Given the description of an element on the screen output the (x, y) to click on. 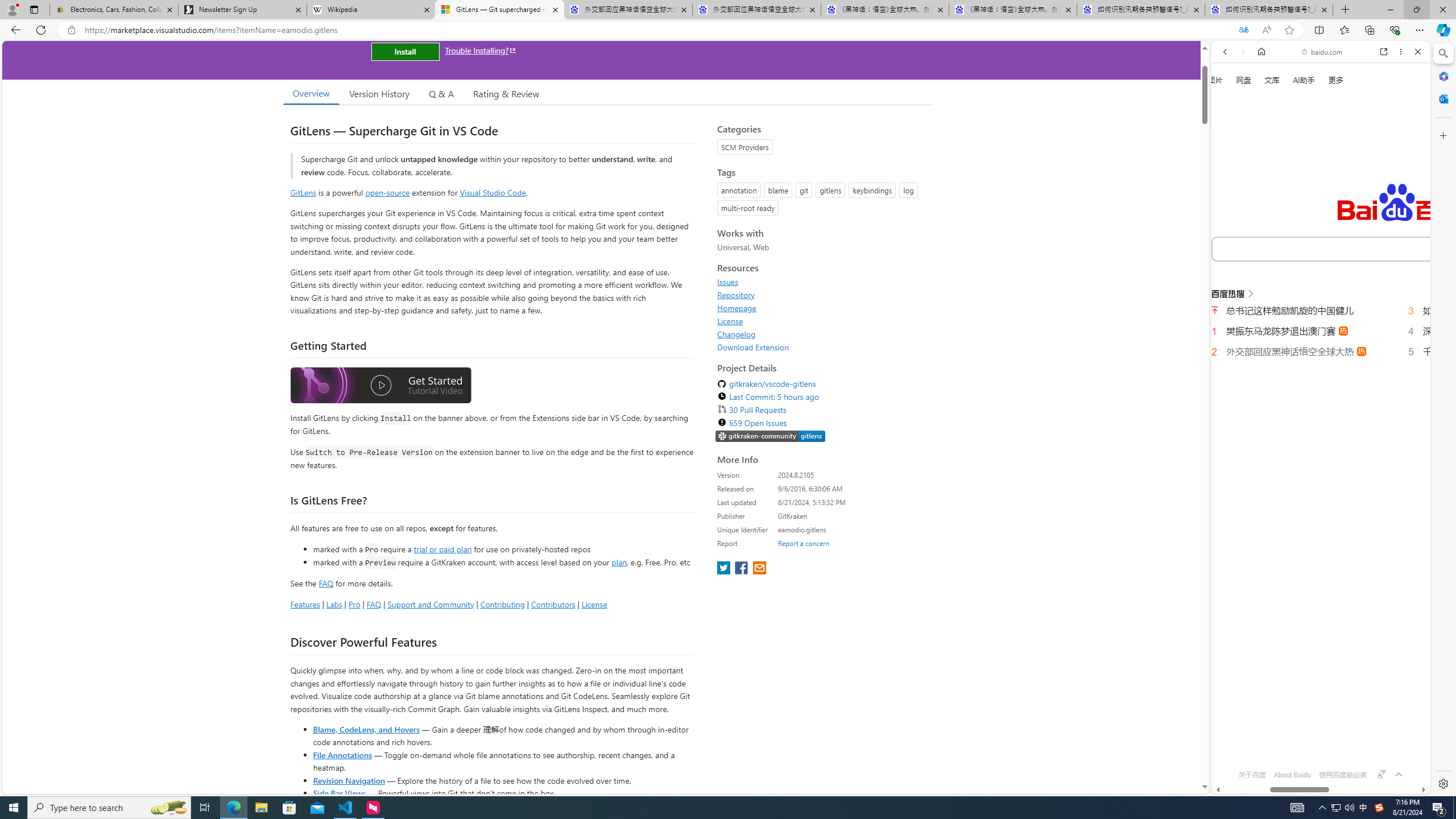
Contributors (552, 603)
WEB   (1230, 192)
baidu.com (1323, 51)
Changelog (820, 333)
Search Filter, WEB (1230, 192)
FAQ (373, 603)
share extension on email (759, 568)
Class: b_serphb (1404, 193)
